Given the description of an element on the screen output the (x, y) to click on. 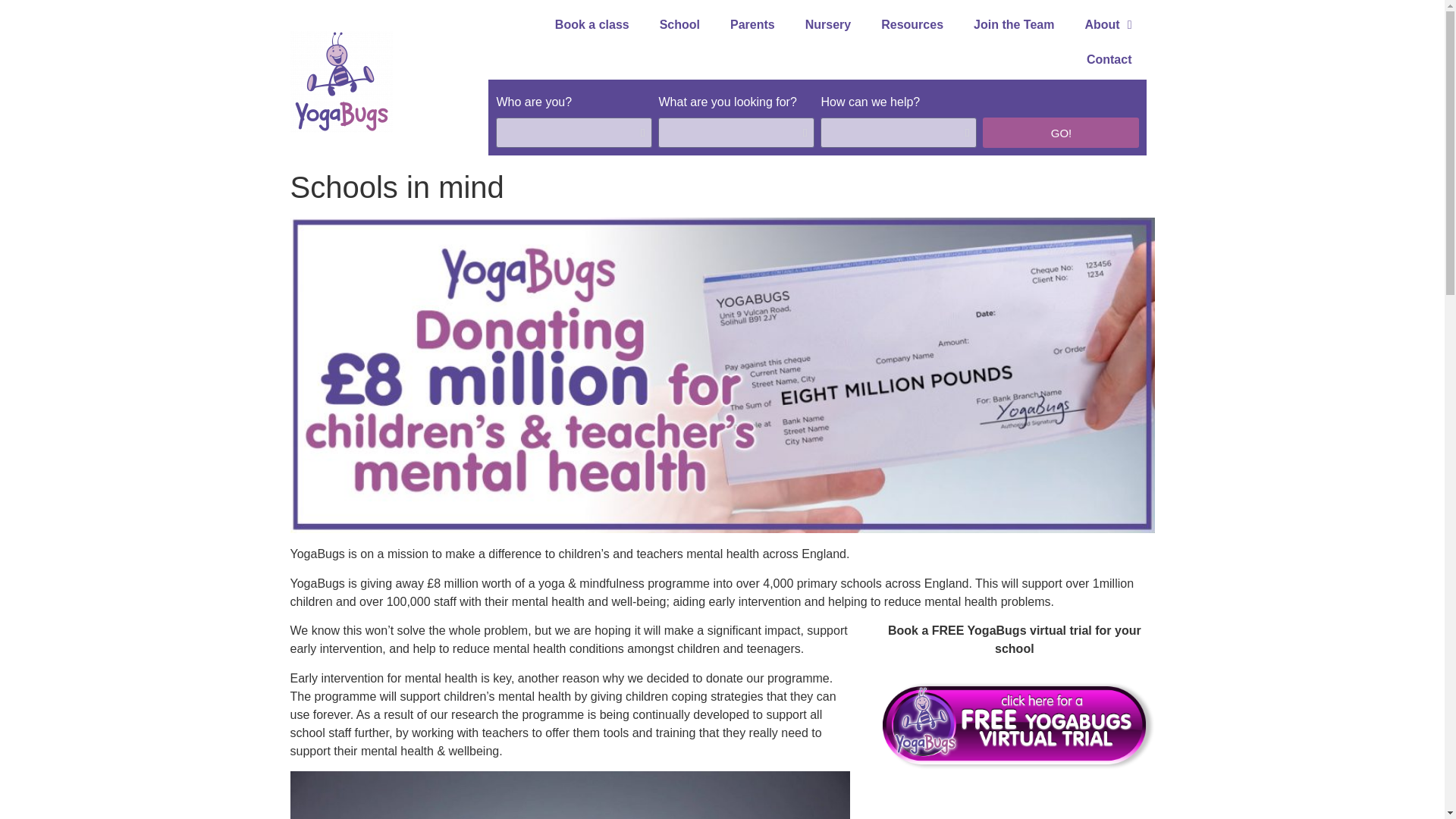
Resources (912, 24)
About (1107, 24)
GO! (1060, 132)
Nursery (828, 24)
Parents (752, 24)
Book a class (592, 24)
Contact (1109, 59)
Join the Team (1013, 24)
School (679, 24)
